Given the description of an element on the screen output the (x, y) to click on. 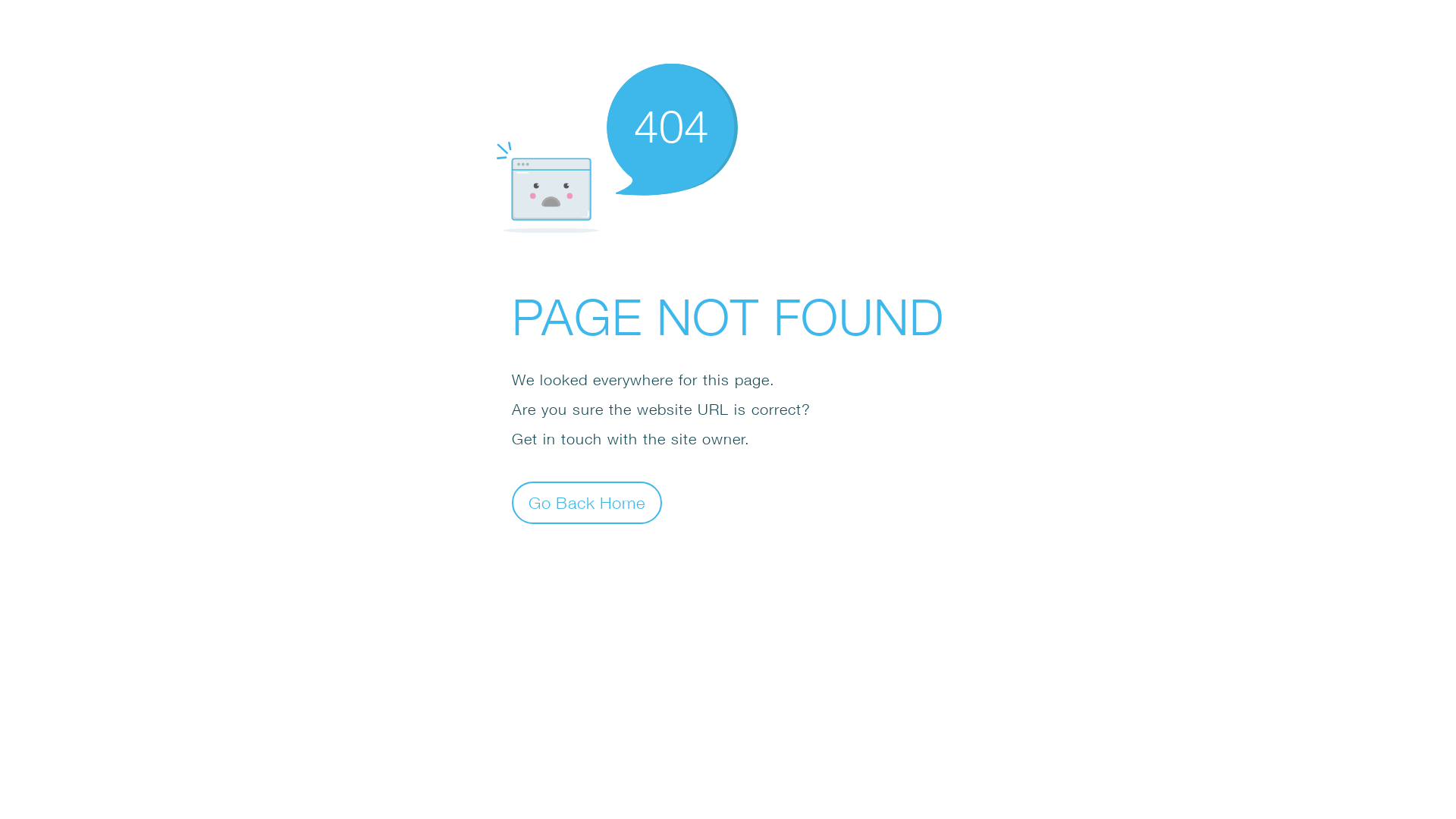
Go Back Home Element type: text (586, 502)
